Given the description of an element on the screen output the (x, y) to click on. 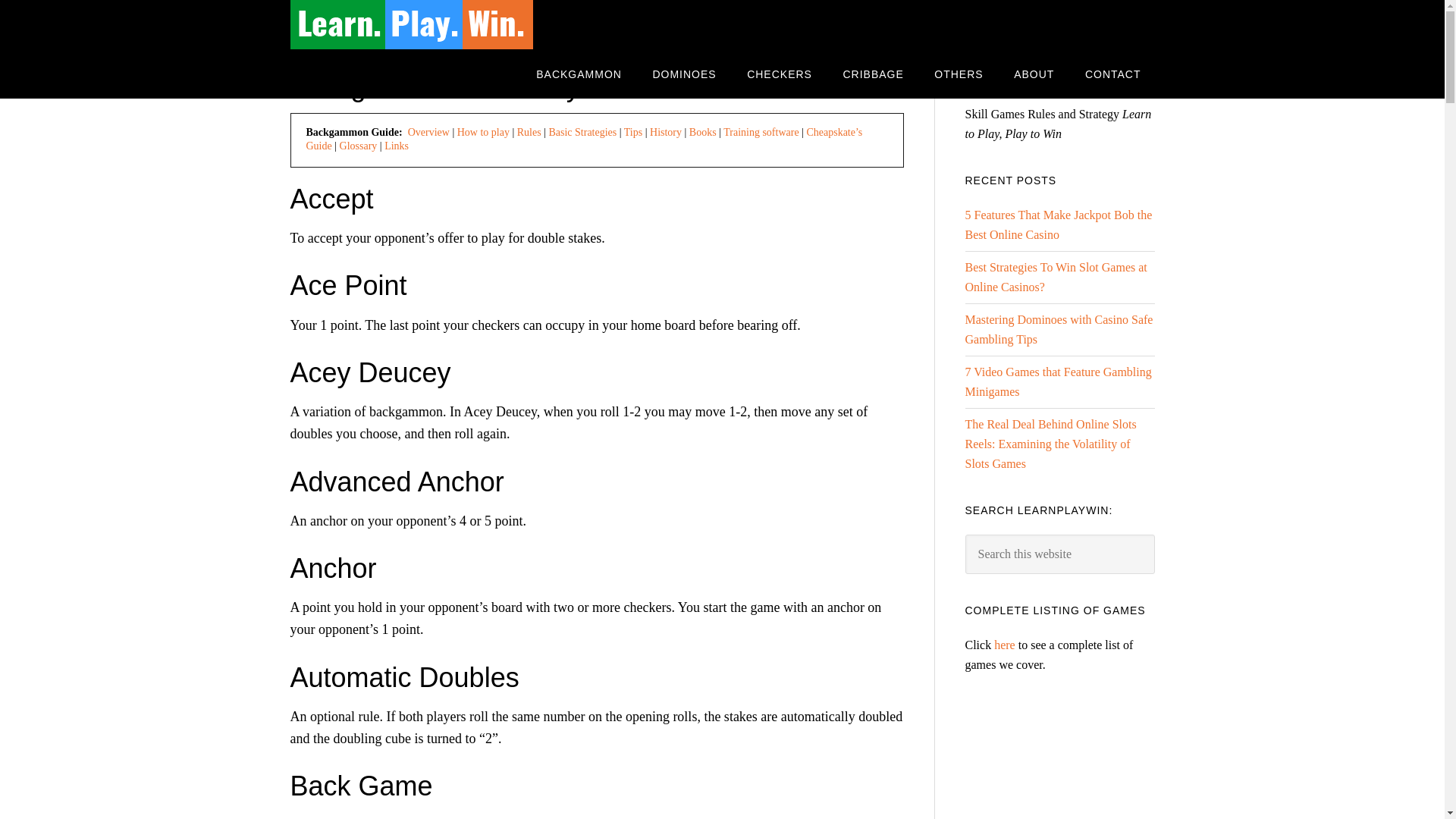
BACKGAMMON (578, 73)
CHECKERS (779, 73)
CRIBBAGE (872, 73)
DOMINOES (684, 73)
LEARNPLAYWIN (410, 24)
